Given the description of an element on the screen output the (x, y) to click on. 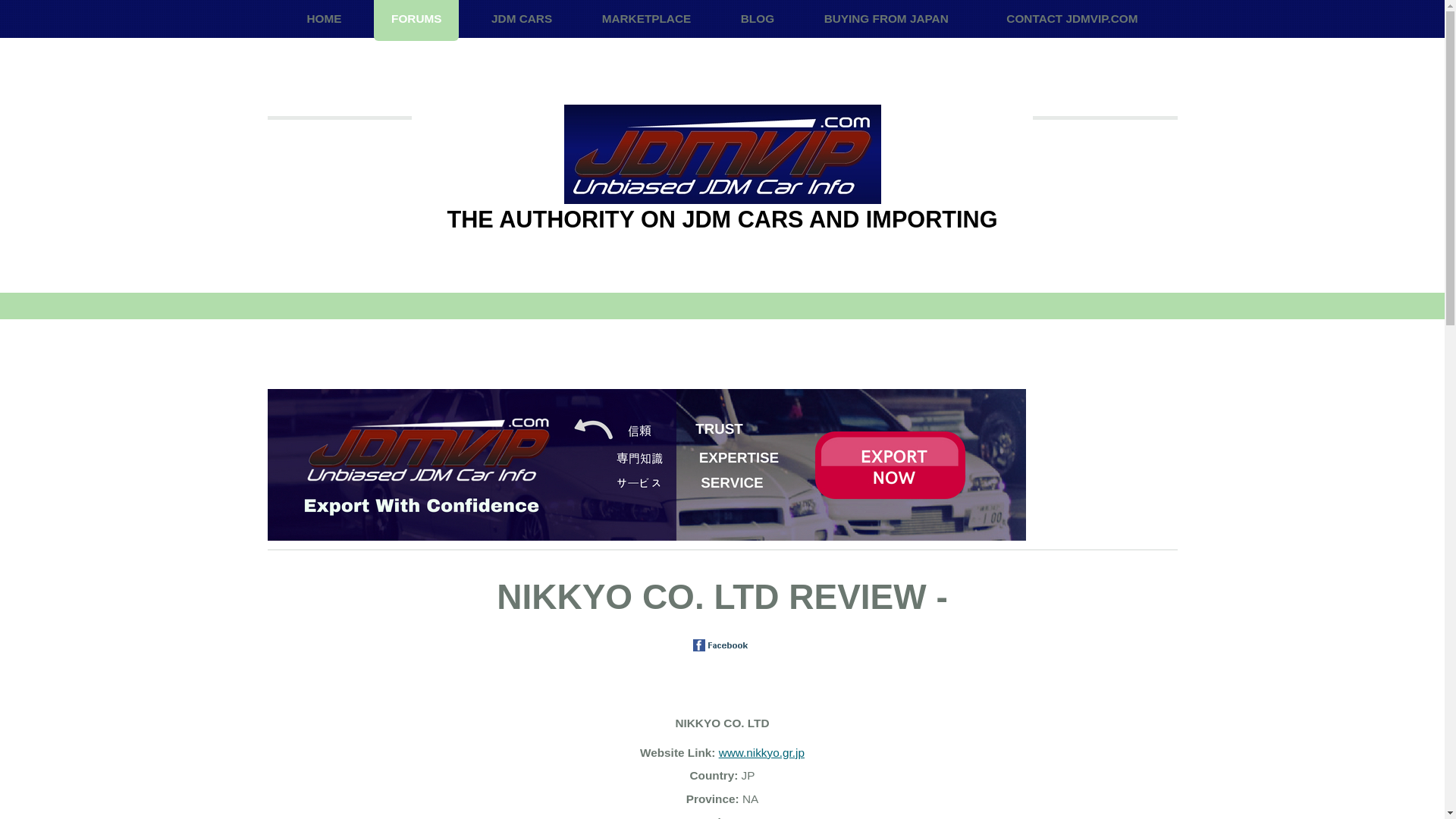
MARKETPLACE (647, 20)
JDM CARS (521, 20)
FORUMS (416, 20)
BLOG (757, 20)
BUYING FROM JAPAN (886, 20)
www.nikkyo.gr.jp (762, 752)
HOME (323, 20)
CONTACT JDMVIP.COM (1071, 20)
